Given the description of an element on the screen output the (x, y) to click on. 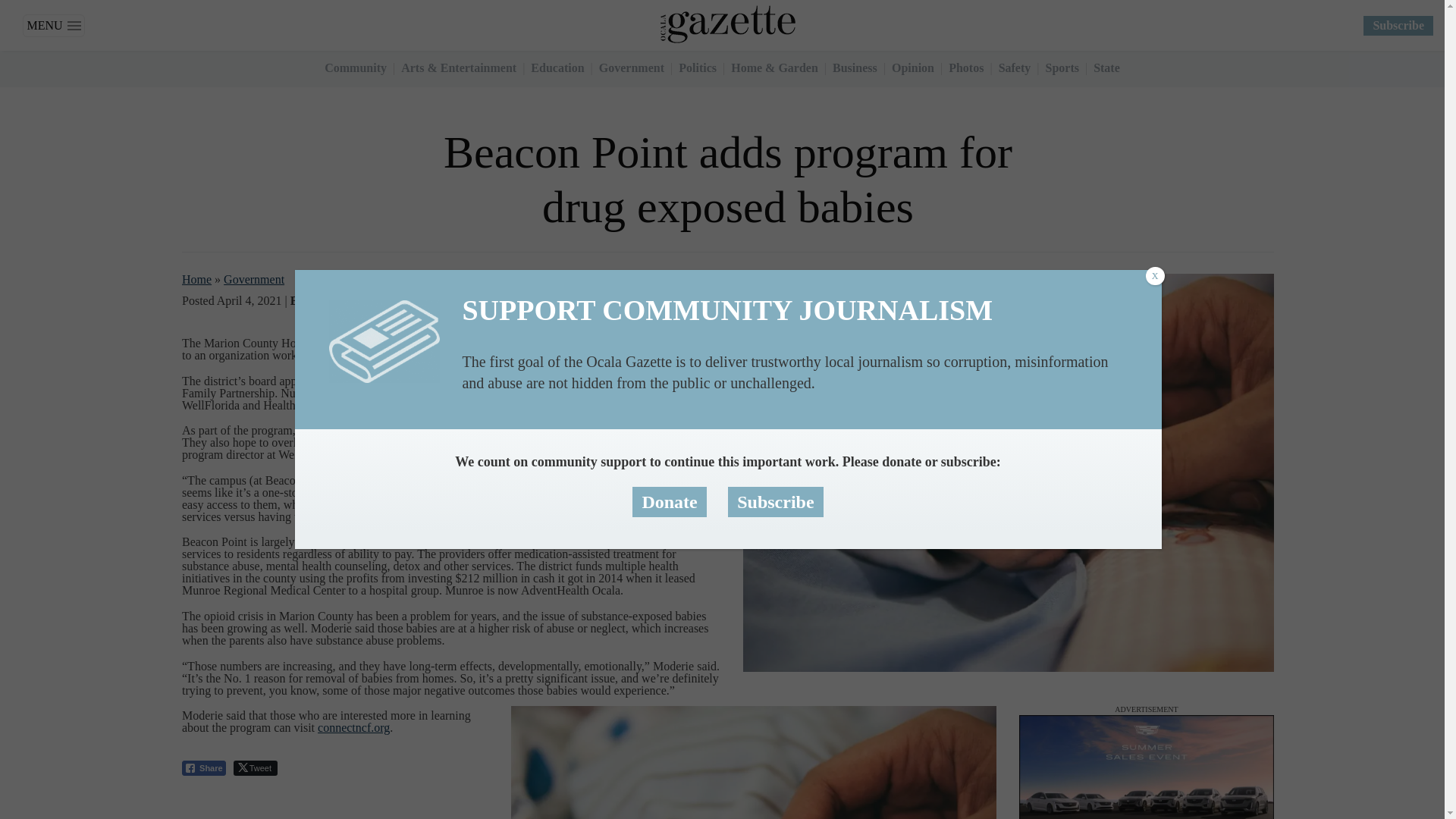
Photos (966, 68)
Education (557, 68)
State (1106, 68)
Safety (1014, 68)
Sports (1061, 68)
Opinion (912, 68)
Politics (697, 68)
MENU (53, 24)
Business (854, 68)
Subscribe (1397, 25)
Community (355, 68)
Government (630, 68)
